Given the description of an element on the screen output the (x, y) to click on. 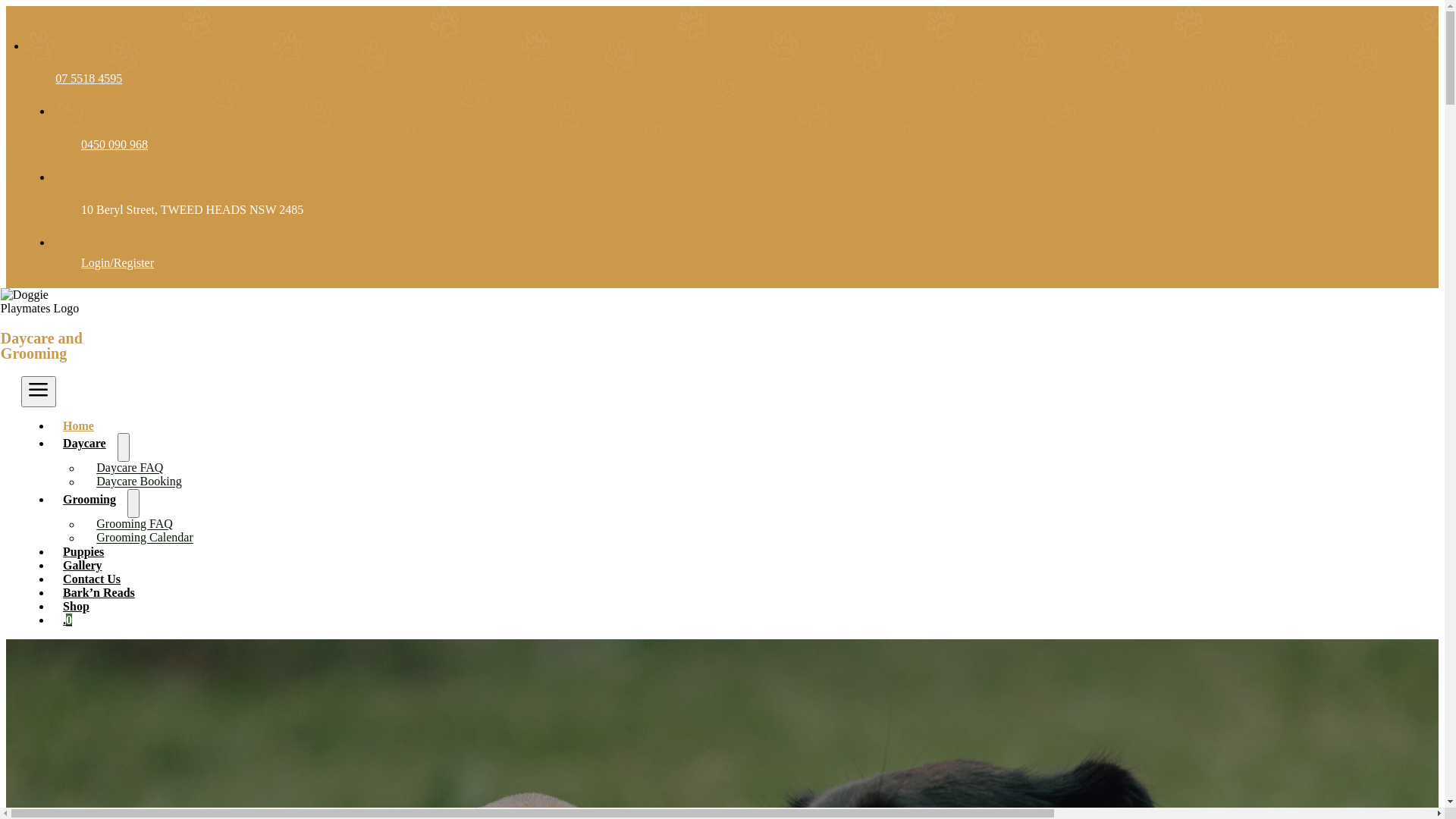
Daycare Booking Element type: text (142, 481)
Home Element type: text (78, 425)
Grooming FAQ Element type: text (137, 523)
Shop Element type: text (75, 605)
.0 Element type: text (67, 619)
Puppies Element type: text (83, 551)
Gallery Element type: text (82, 565)
Daycare FAQ Element type: text (133, 467)
Daycare Element type: text (84, 442)
07 5518 4595 Element type: text (88, 78)
Grooming Element type: text (89, 498)
Grooming Calendar Element type: text (148, 537)
Login/Register Element type: text (117, 262)
0450 090 968 Element type: text (114, 144)
Skip to content Element type: text (5, 5)
Toggle Navigation Element type: text (38, 391)
Contact Us Element type: text (91, 578)
